Given the description of an element on the screen output the (x, y) to click on. 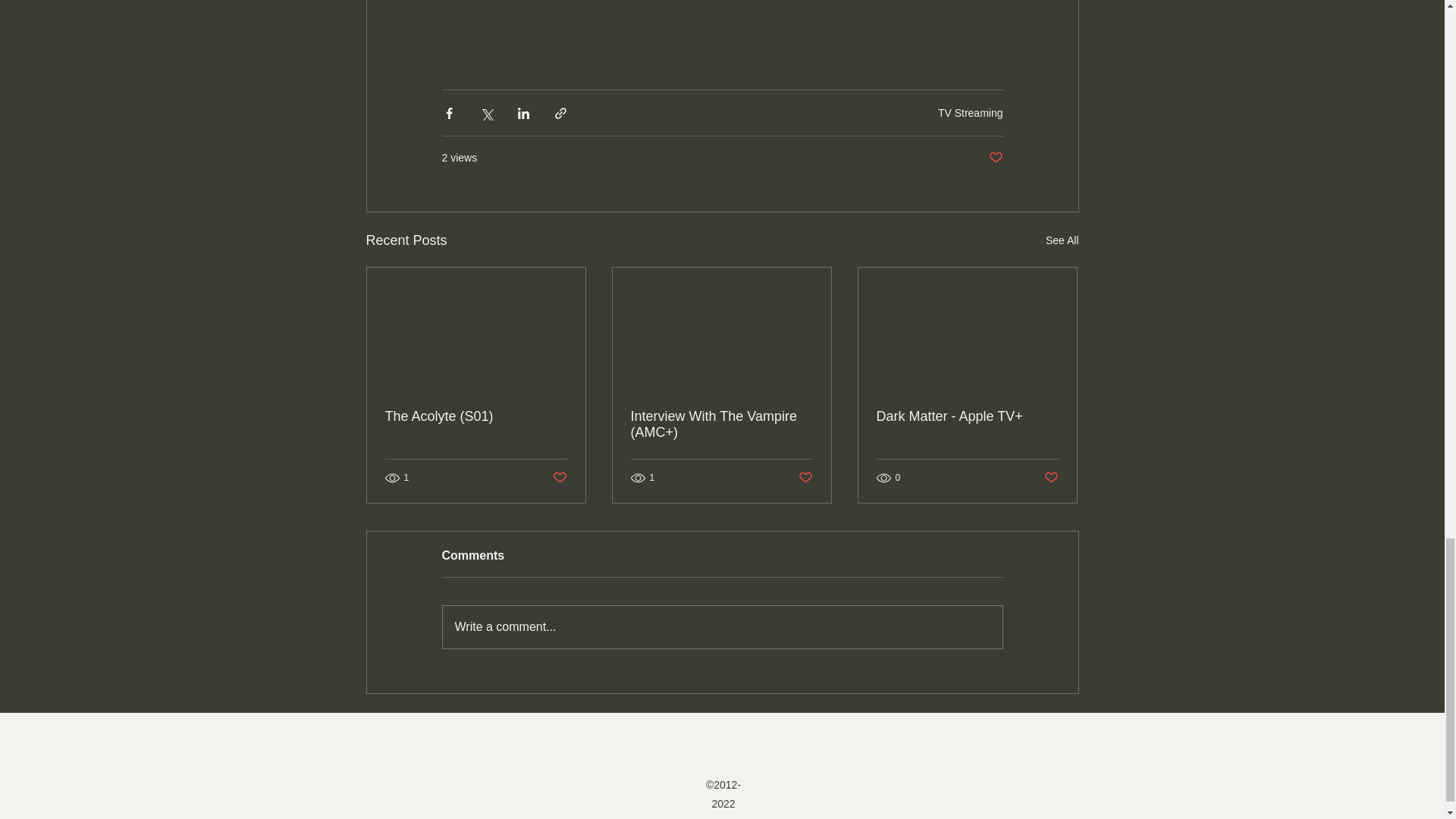
Post not marked as liked (804, 478)
Post not marked as liked (558, 478)
Post not marked as liked (1050, 478)
See All (1061, 240)
TV Streaming (970, 112)
Post not marked as liked (995, 157)
Write a comment... (722, 627)
